Given the description of an element on the screen output the (x, y) to click on. 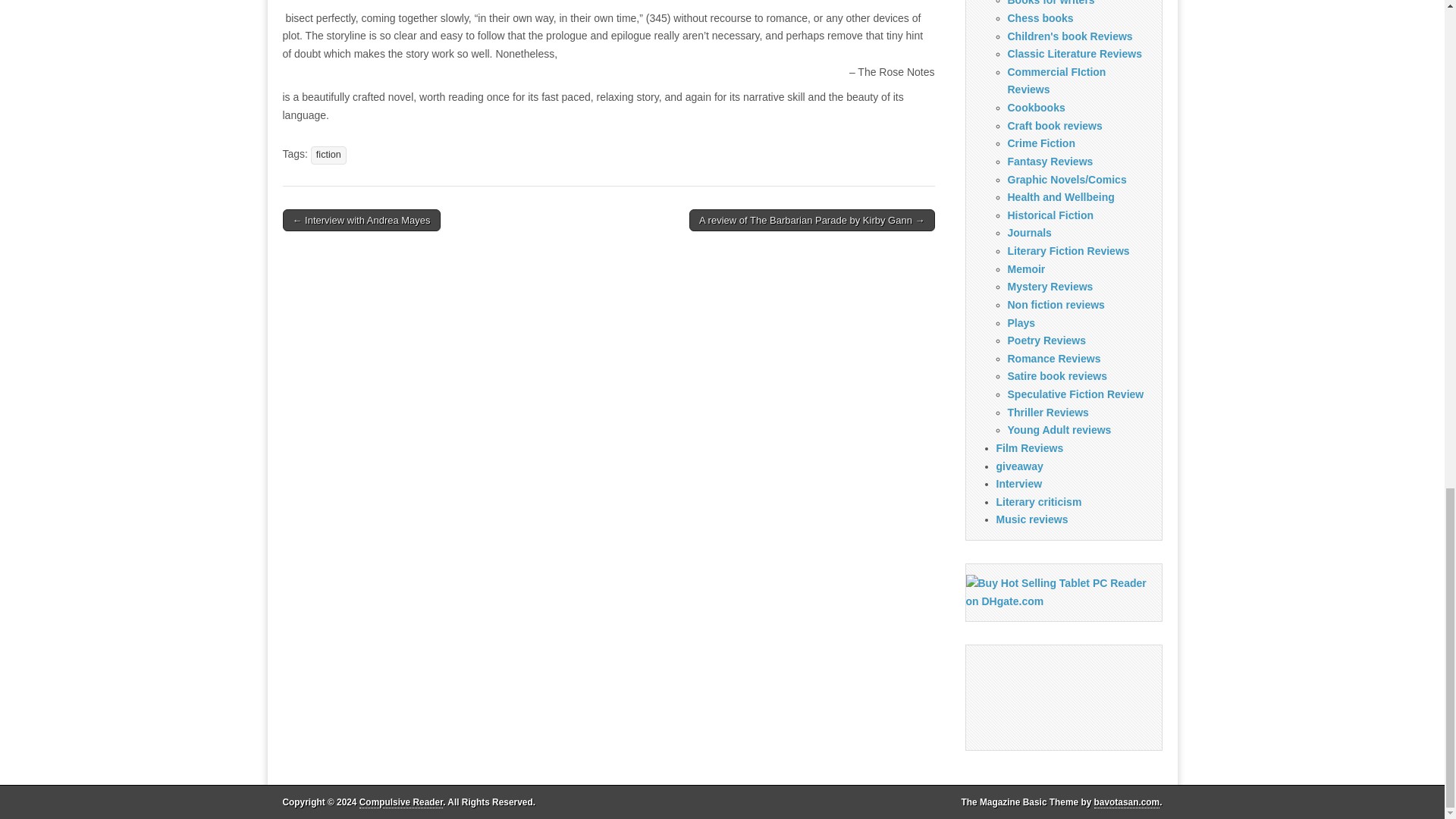
Craft book reviews (1054, 125)
Books for writers (1050, 2)
Cookbooks (1035, 107)
Crime Fiction (1040, 143)
Commercial FIction Reviews (1056, 81)
Chess books (1040, 18)
Journals (1029, 232)
Historical Fiction (1050, 215)
Classic Literature Reviews (1074, 53)
Health and Wellbeing (1060, 196)
Children's book Reviews (1069, 36)
fiction (328, 154)
Fantasy Reviews (1050, 161)
